Given the description of an element on the screen output the (x, y) to click on. 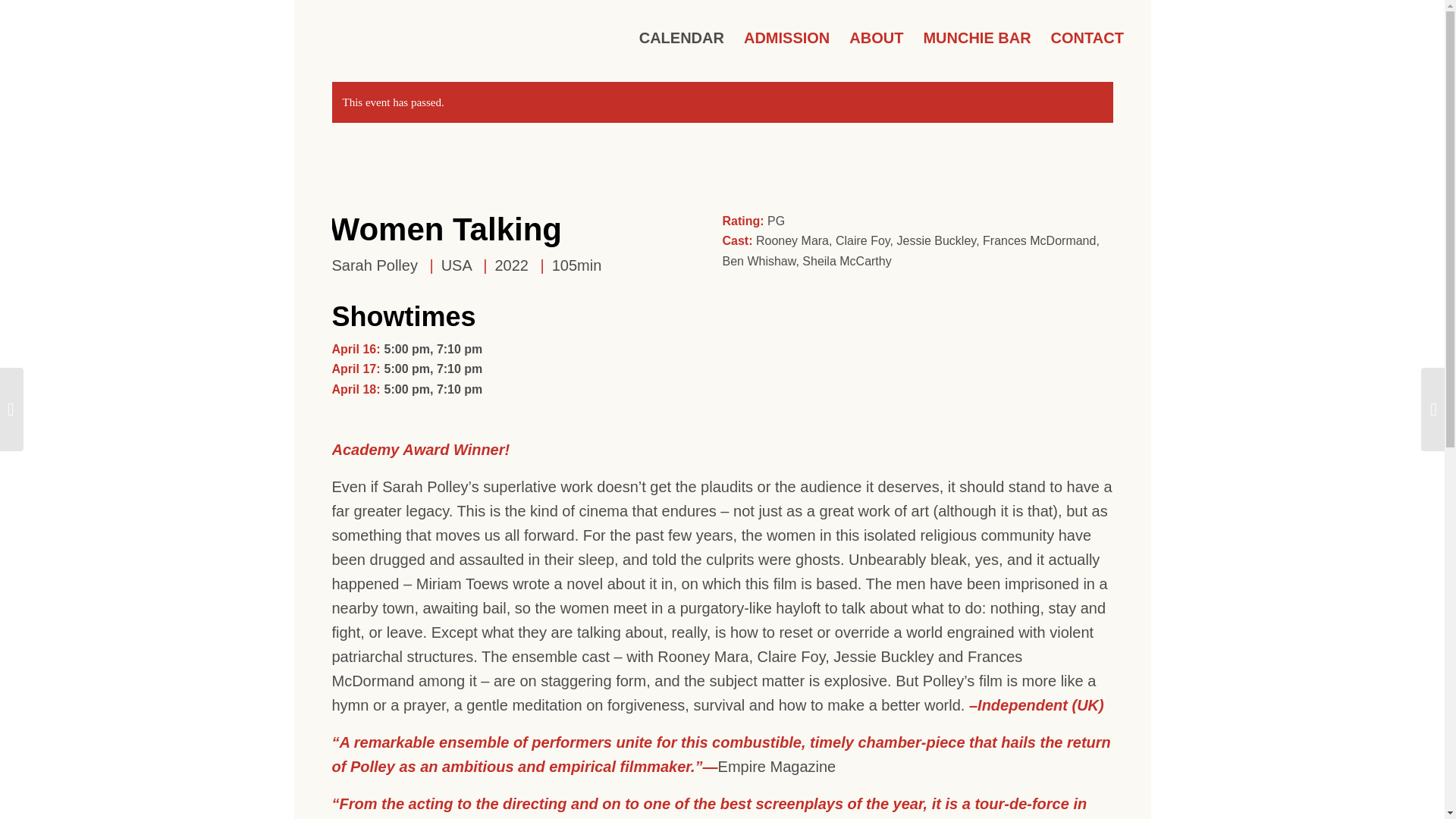
CALENDAR (680, 37)
ADMISSION (786, 37)
